Given the description of an element on the screen output the (x, y) to click on. 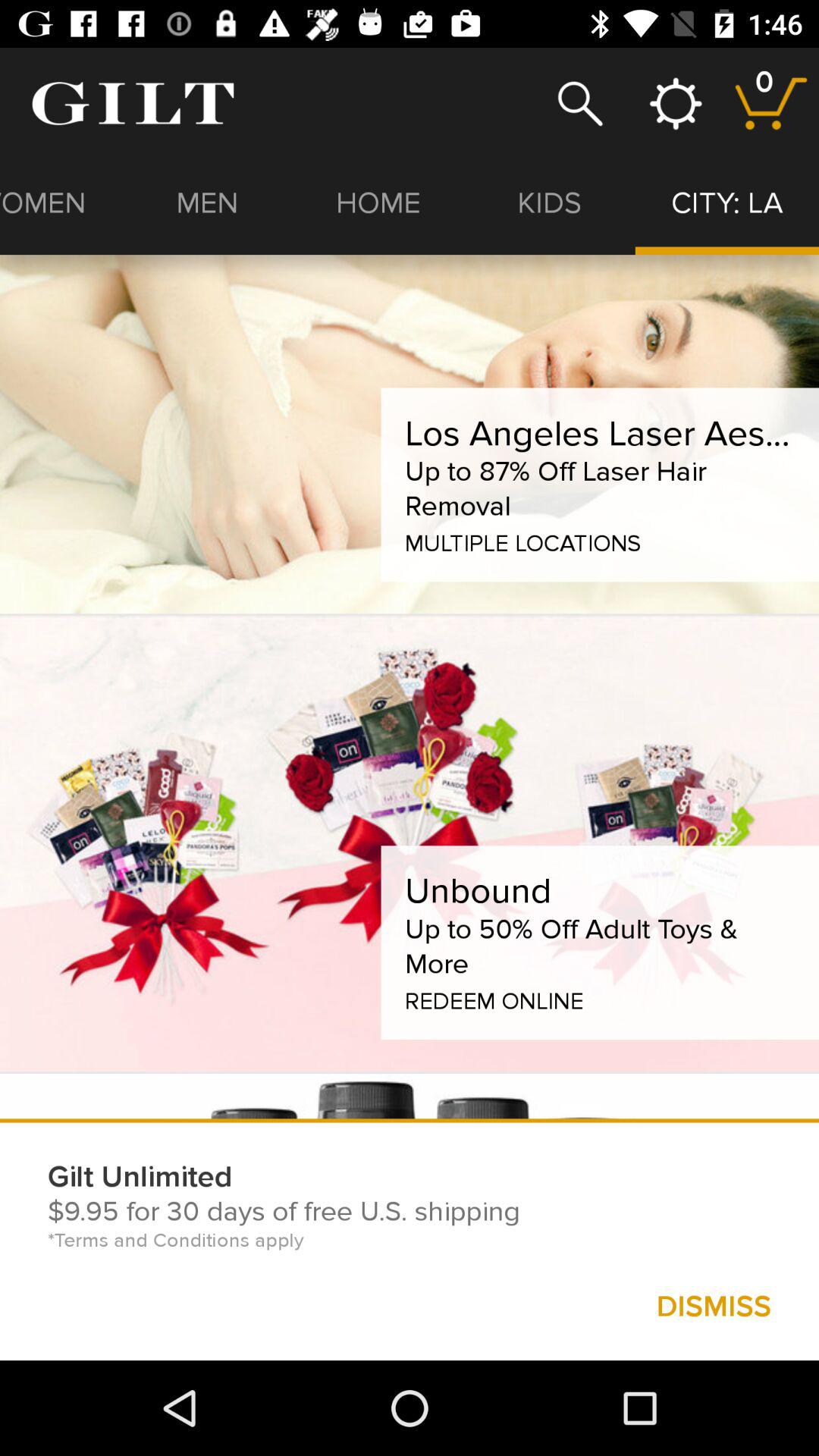
launch dismiss icon (713, 1306)
